Given the description of an element on the screen output the (x, y) to click on. 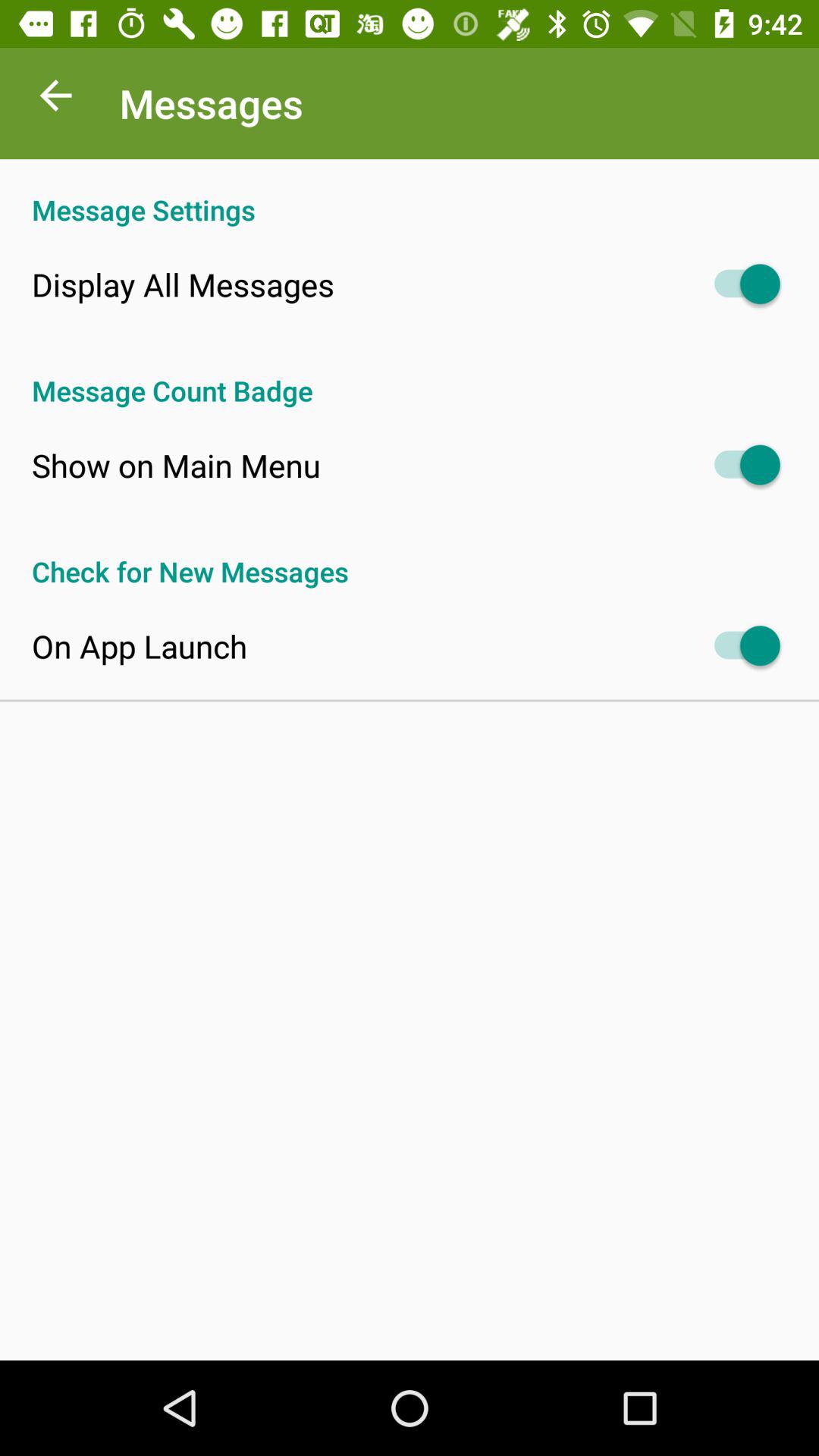
turn off on app launch icon (139, 645)
